Given the description of an element on the screen output the (x, y) to click on. 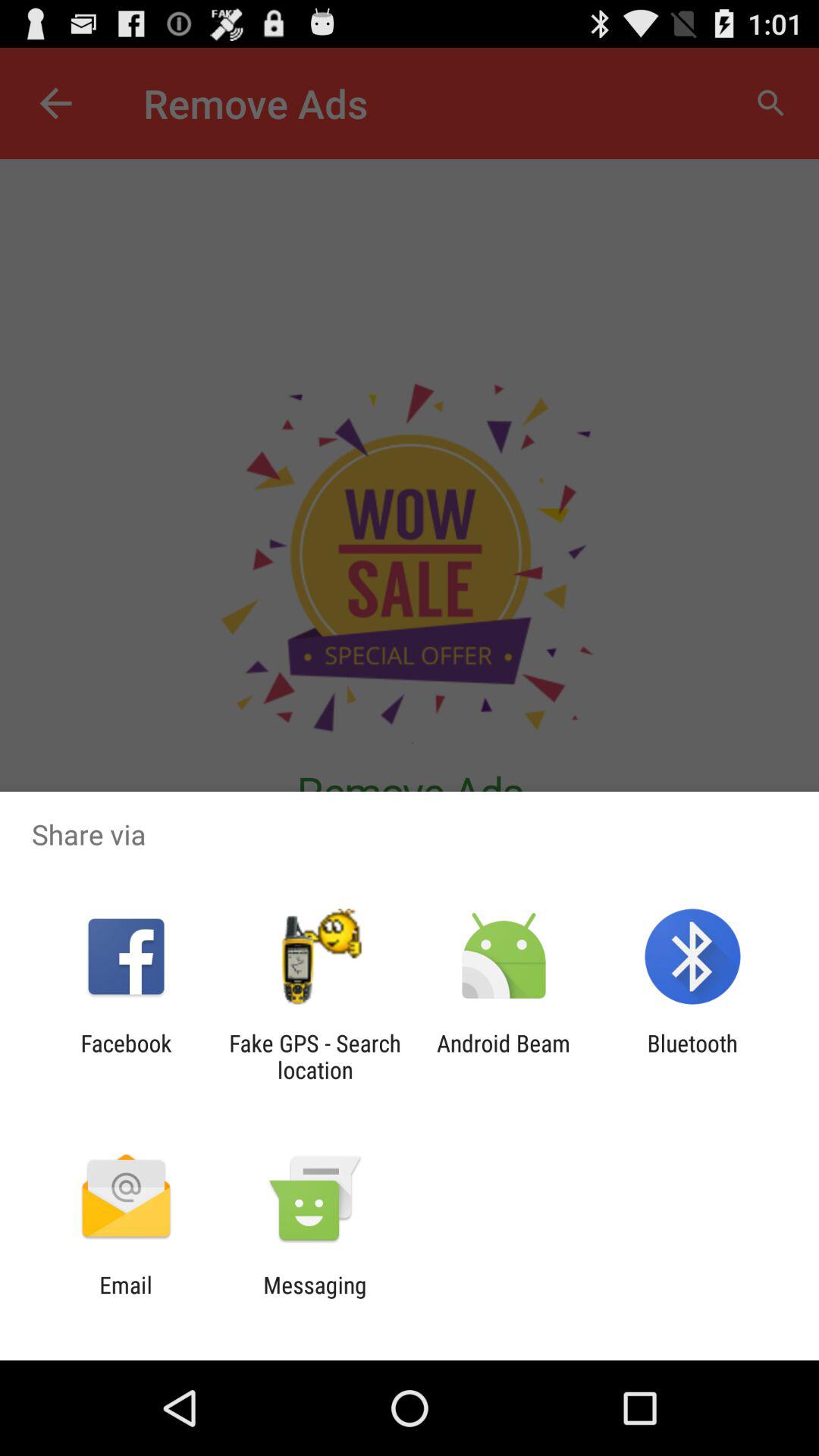
turn on the icon next to facebook icon (314, 1056)
